Given the description of an element on the screen output the (x, y) to click on. 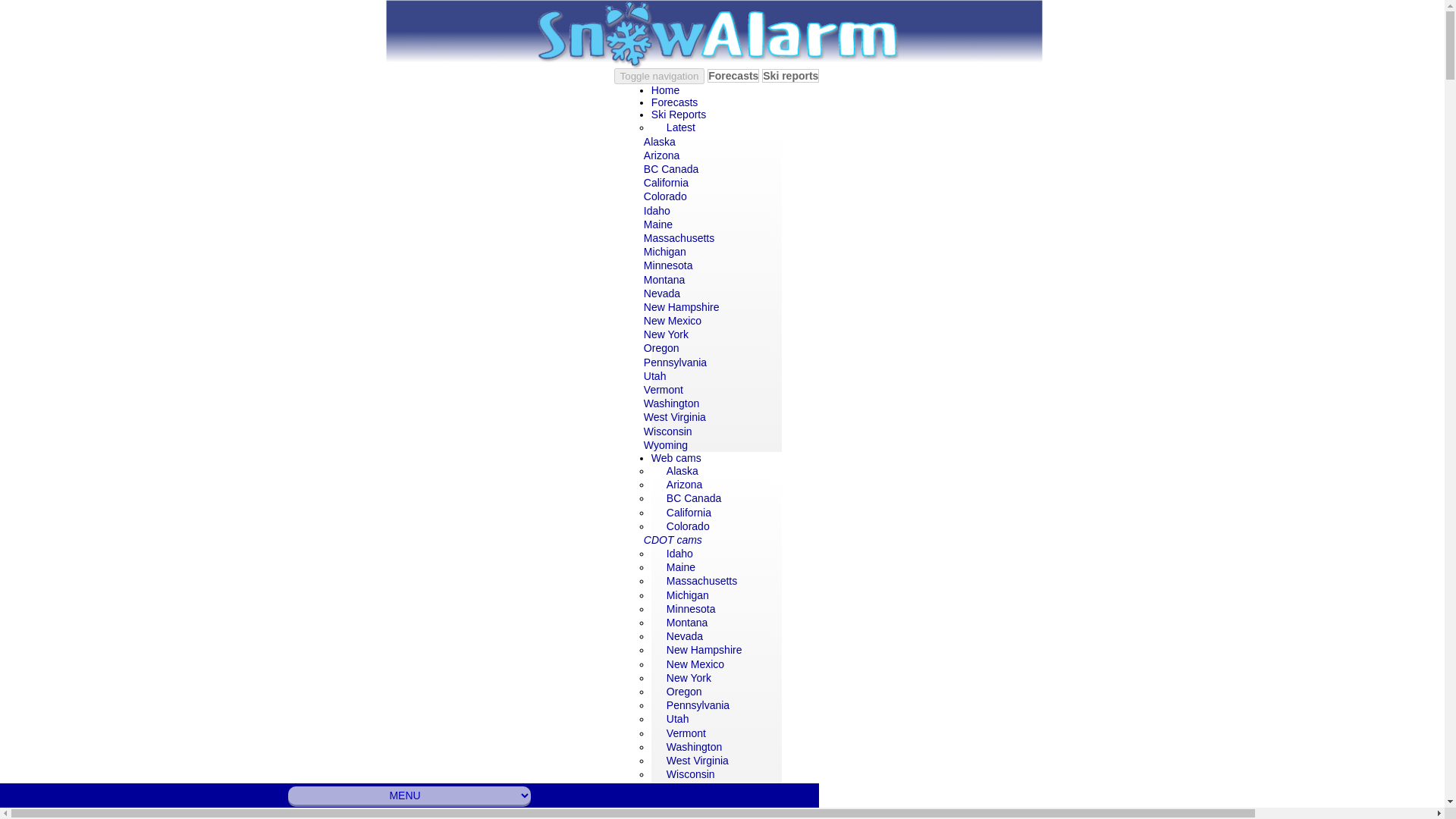
Utah (654, 376)
Home (664, 86)
Latest (680, 127)
Montana (663, 279)
Maine (657, 224)
Vermont (662, 389)
Idaho (656, 210)
Pennsylvania (674, 362)
Michigan (664, 251)
Wisconsin (668, 431)
Colorado (665, 196)
Web cams (675, 454)
BC Canada (670, 168)
Maine (680, 567)
Ski reports (789, 75)
